Given the description of an element on the screen output the (x, y) to click on. 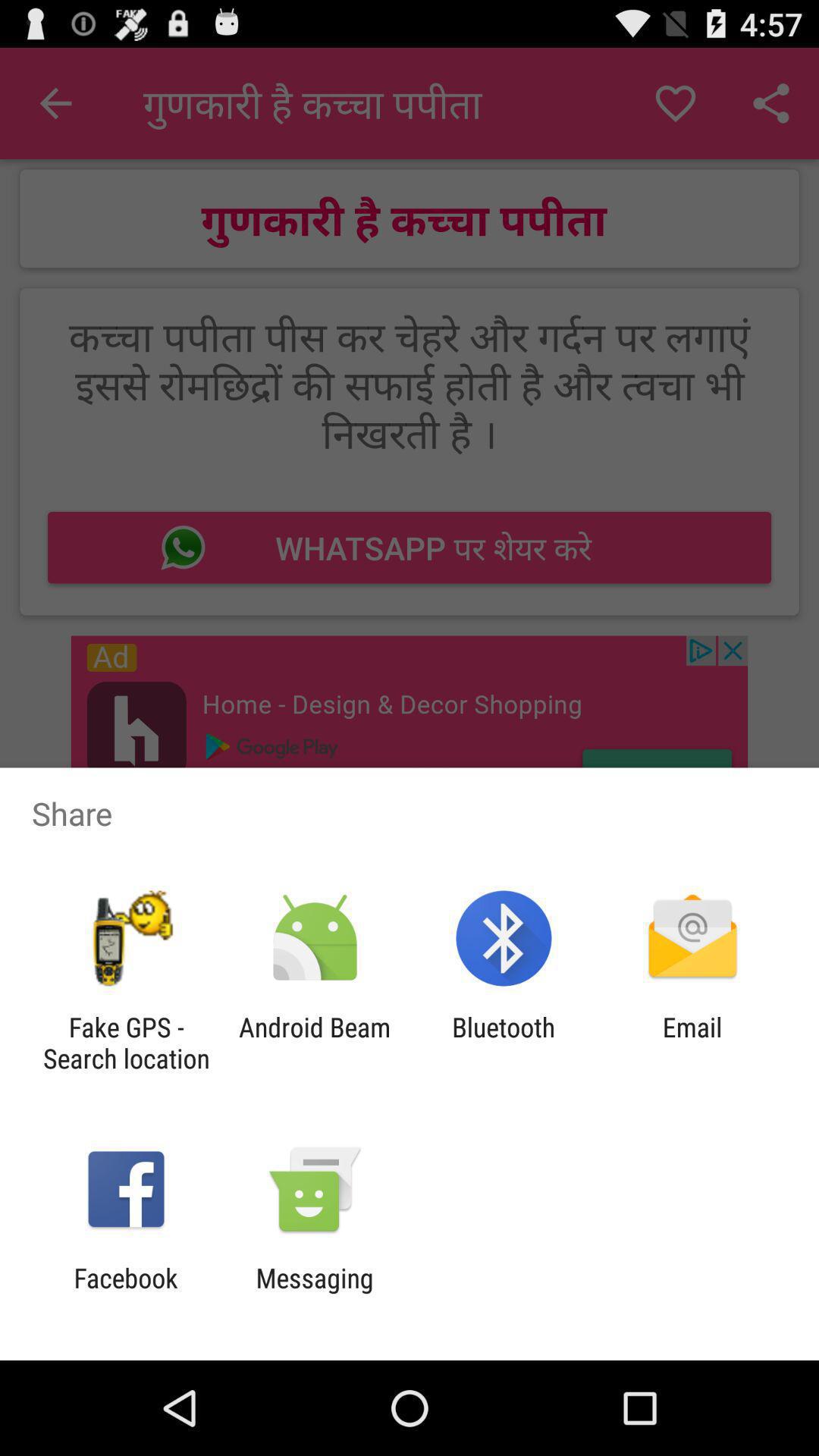
scroll to the facebook (125, 1293)
